Given the description of an element on the screen output the (x, y) to click on. 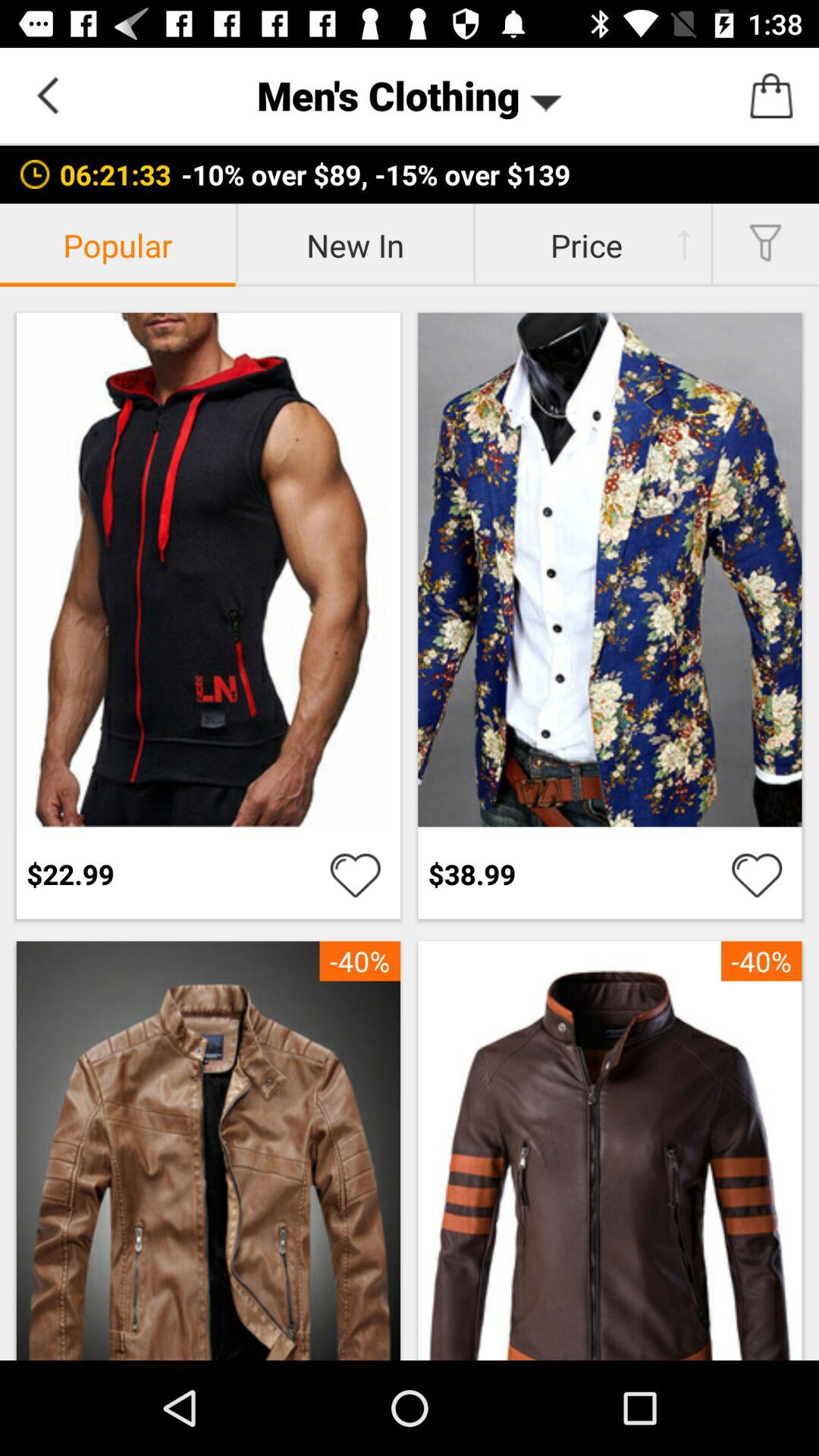
go to previous page (47, 95)
